Given the description of an element on the screen output the (x, y) to click on. 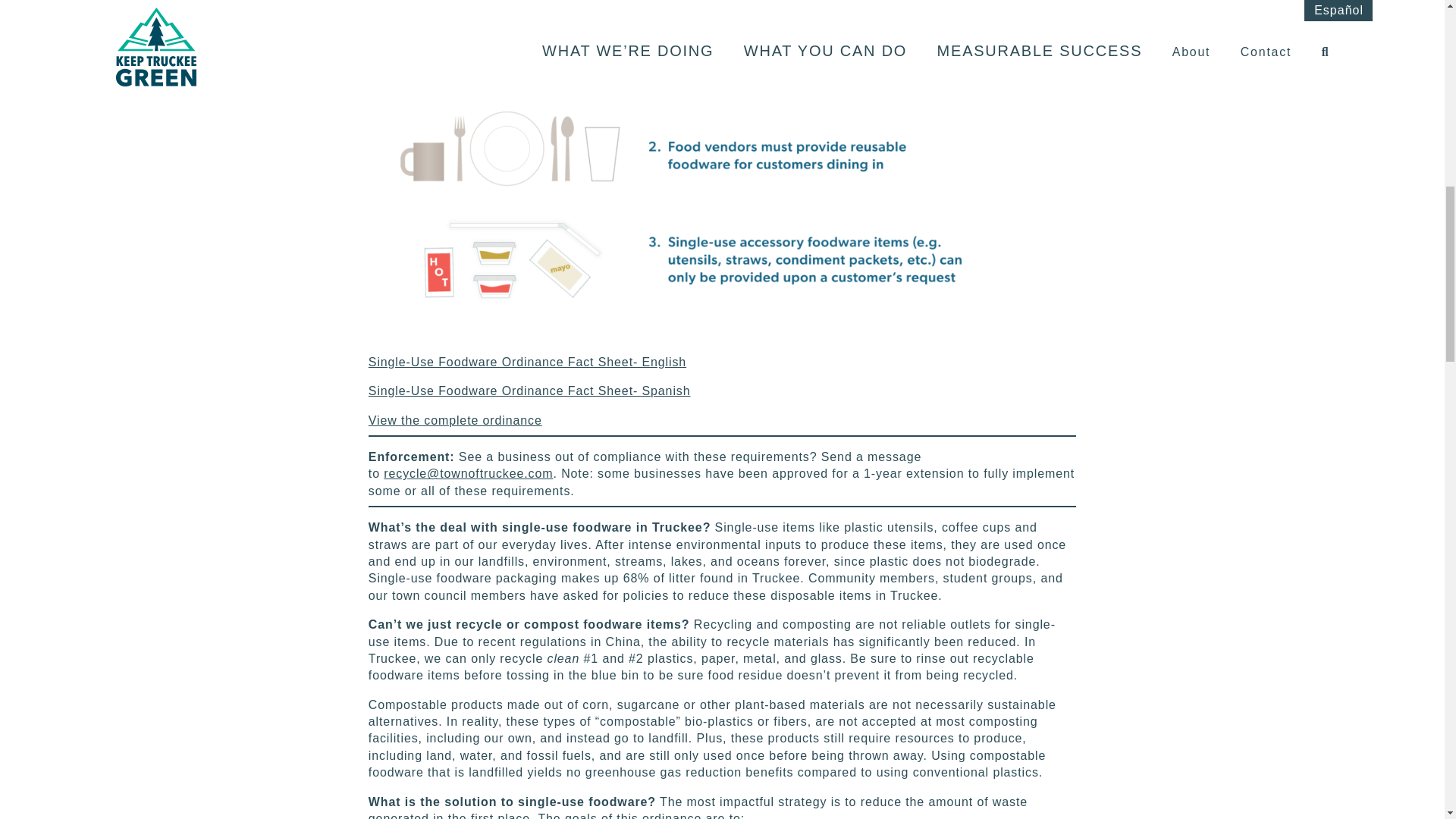
View the complete ordinance (454, 420)
Single-Use Foodware Ordinance Fact Sheet- English (526, 361)
